Given the description of an element on the screen output the (x, y) to click on. 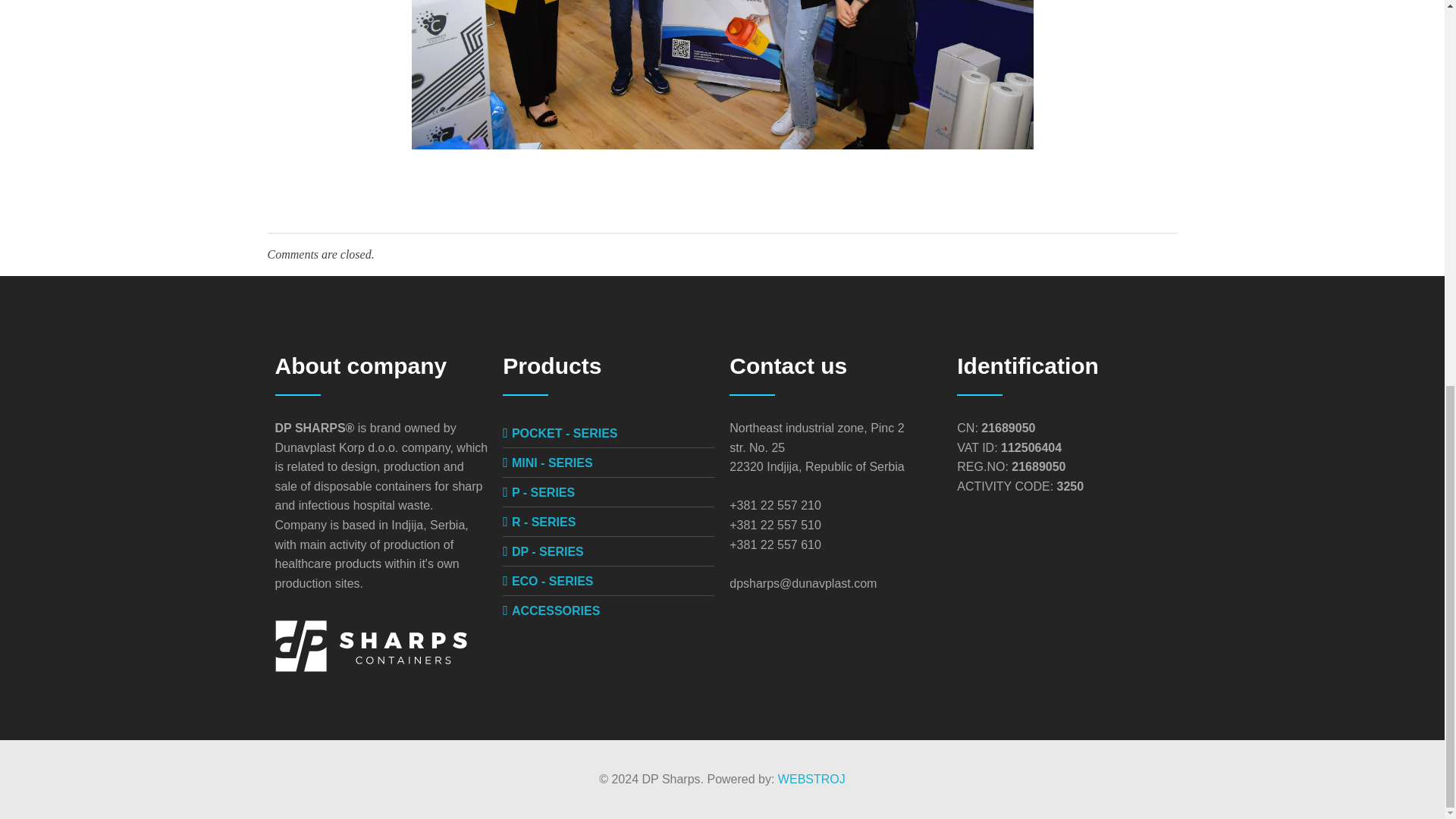
POCKET - SERIES (564, 432)
MINI - SERIES (552, 462)
ACCESSORIES (555, 610)
P - SERIES (543, 492)
R - SERIES (543, 521)
ECO - SERIES (553, 581)
WEBSTROJ (811, 779)
DP - SERIES (547, 551)
